Given the description of an element on the screen output the (x, y) to click on. 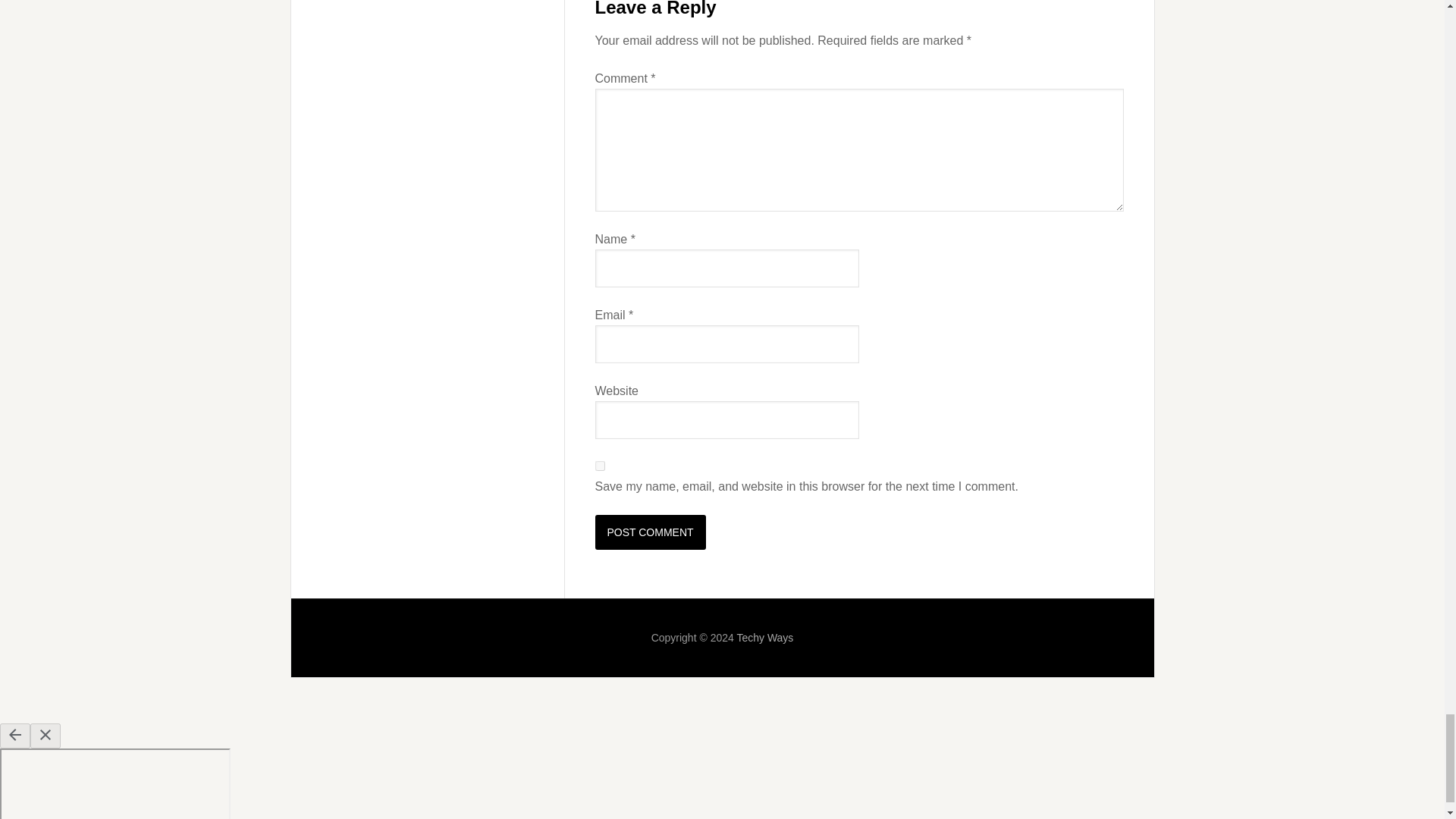
yes (599, 465)
Post Comment (649, 532)
